Given the description of an element on the screen output the (x, y) to click on. 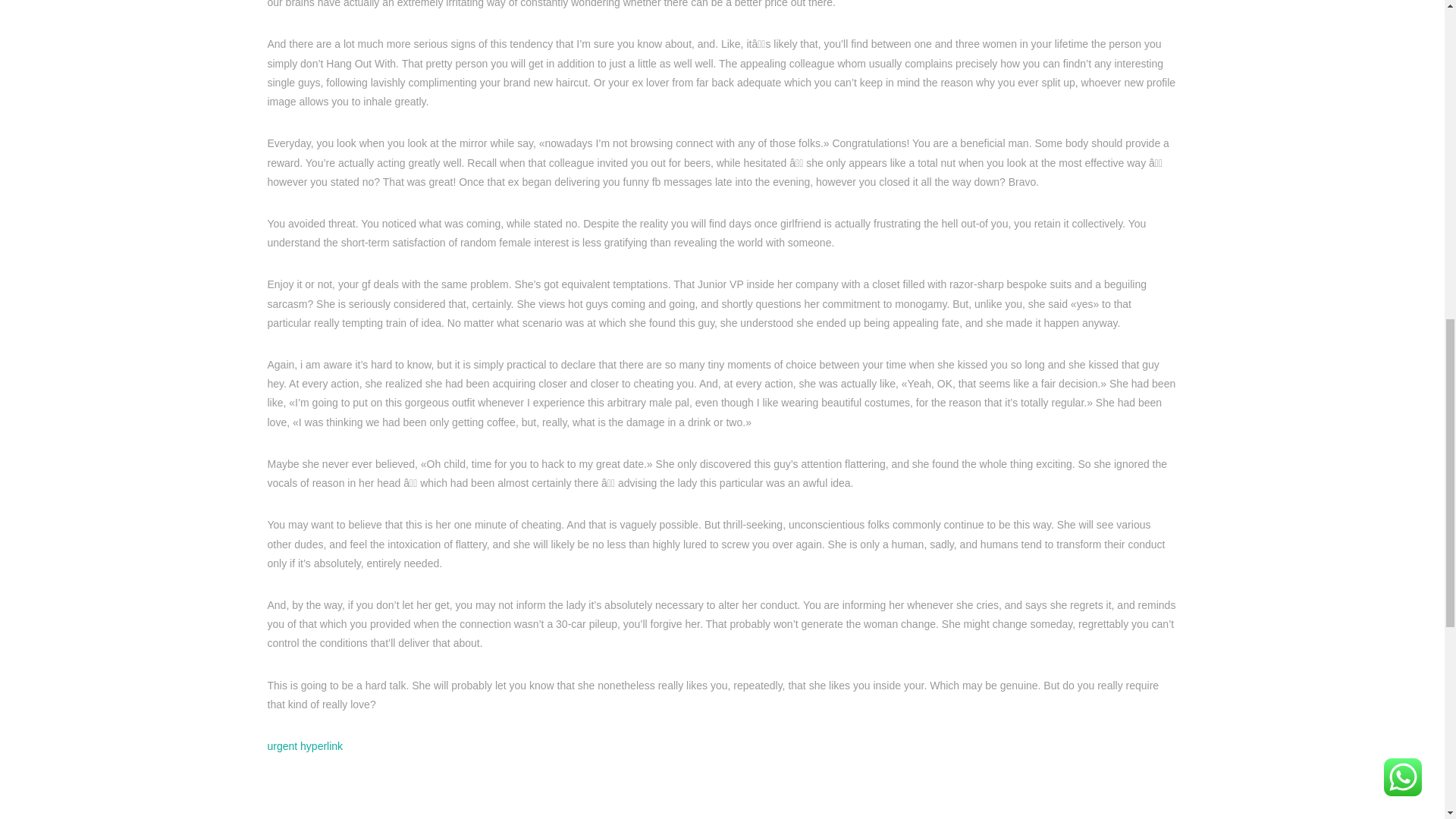
urgent hyperlink (304, 746)
